Given the description of an element on the screen output the (x, y) to click on. 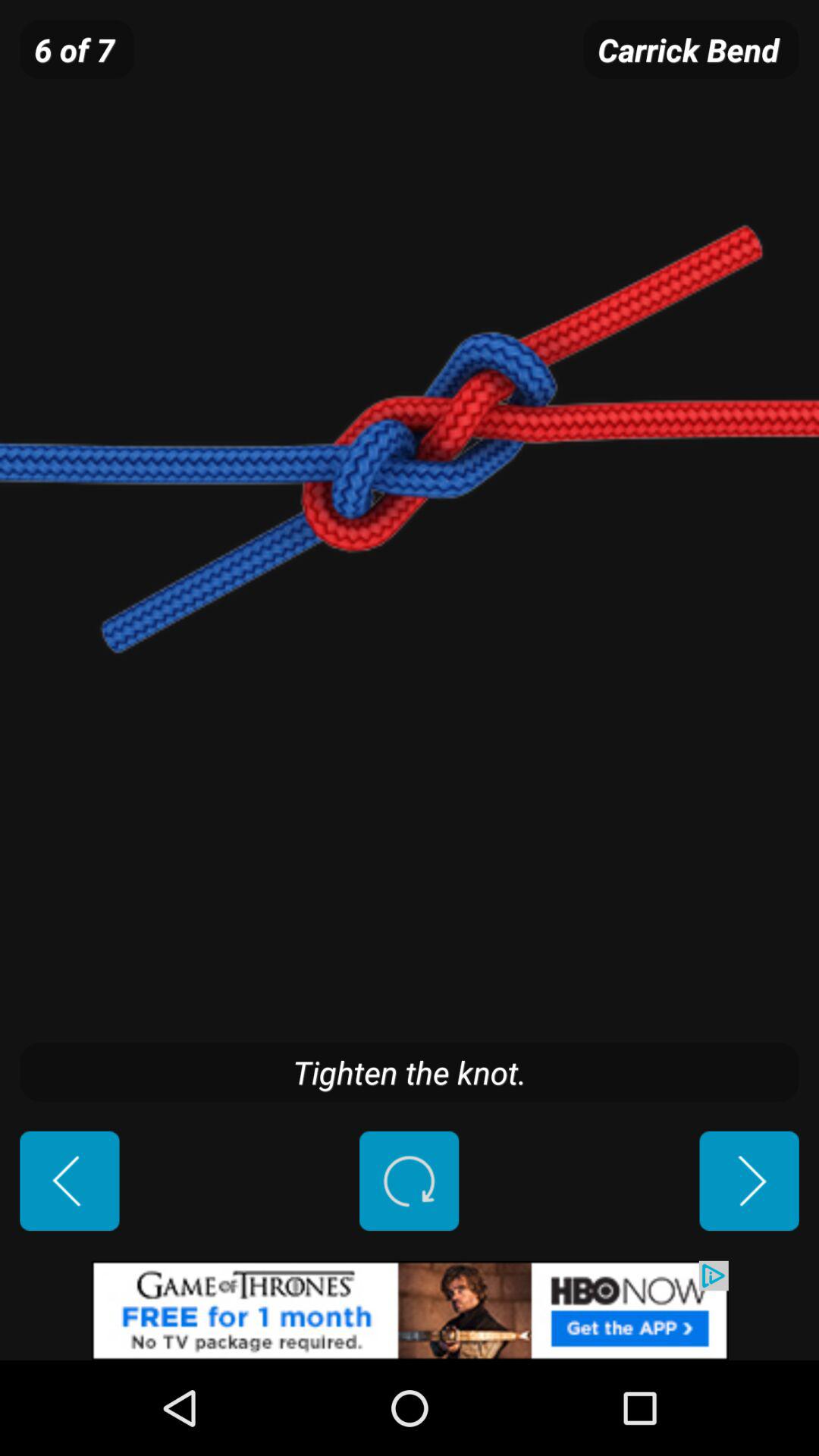
restart (408, 1180)
